Given the description of an element on the screen output the (x, y) to click on. 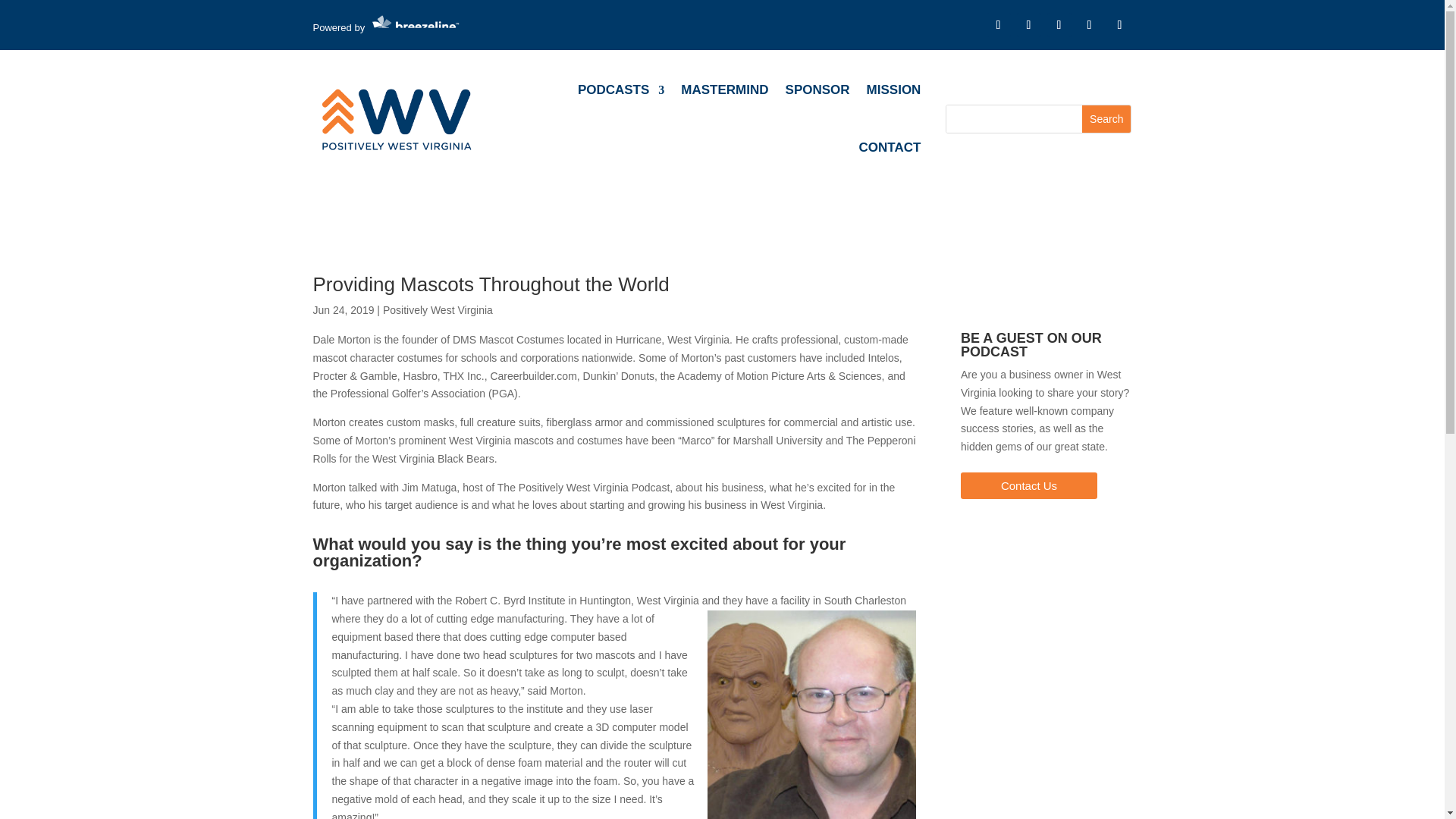
PODCASTS (620, 89)
MASTERMIND (724, 89)
Search (1106, 118)
Follow on Facebook (997, 24)
Search (1106, 118)
Positively West Virginia (437, 309)
Follow on Youtube (1118, 24)
Follow on Instagram (1058, 24)
Contact Us (1028, 485)
CONTACT (890, 147)
